Given the description of an element on the screen output the (x, y) to click on. 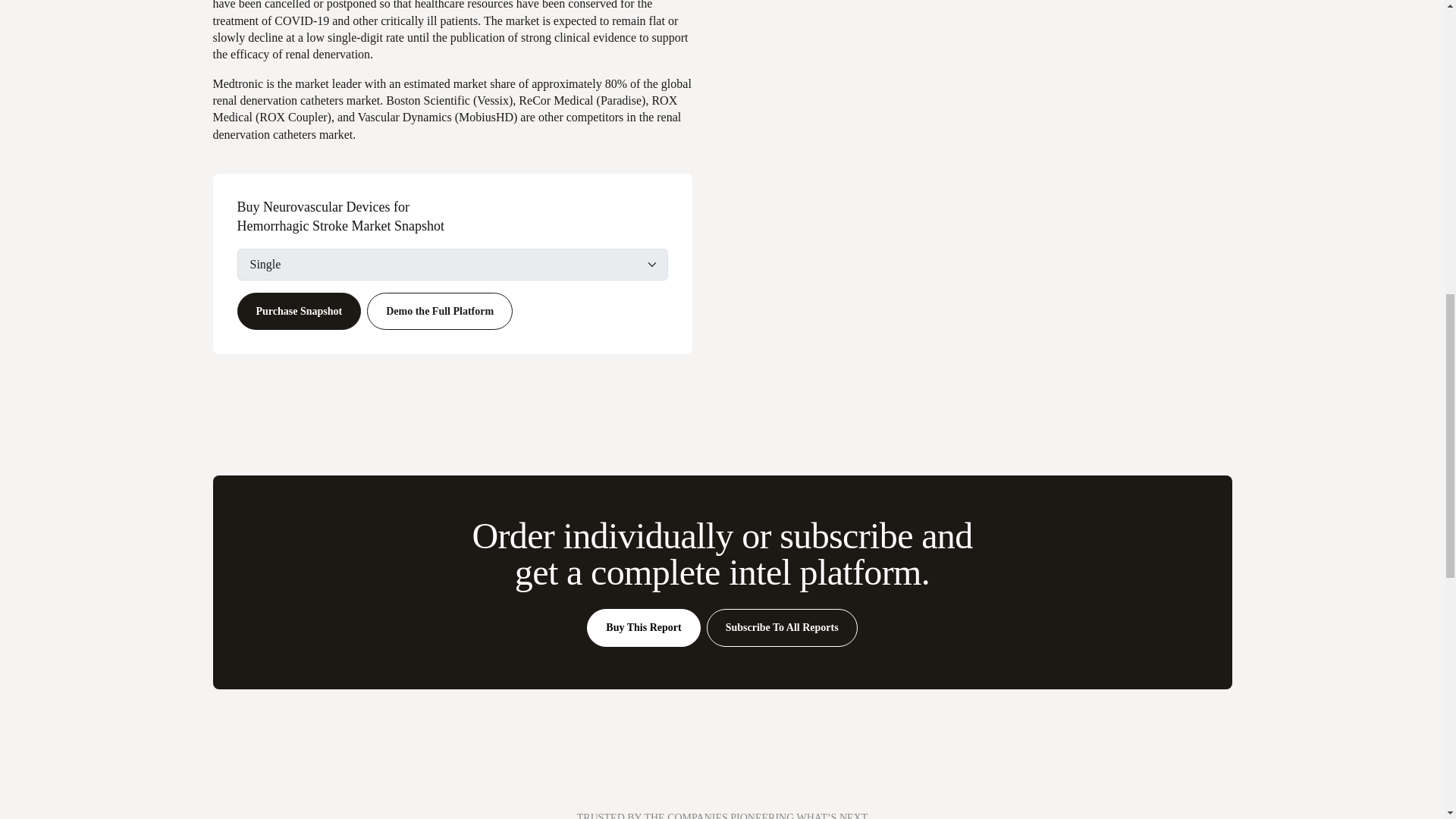
Purchase Snapshot (298, 311)
Subscribe To All Reports (781, 628)
Buy This Report (643, 628)
Demo the Full Platform (439, 311)
